Given the description of an element on the screen output the (x, y) to click on. 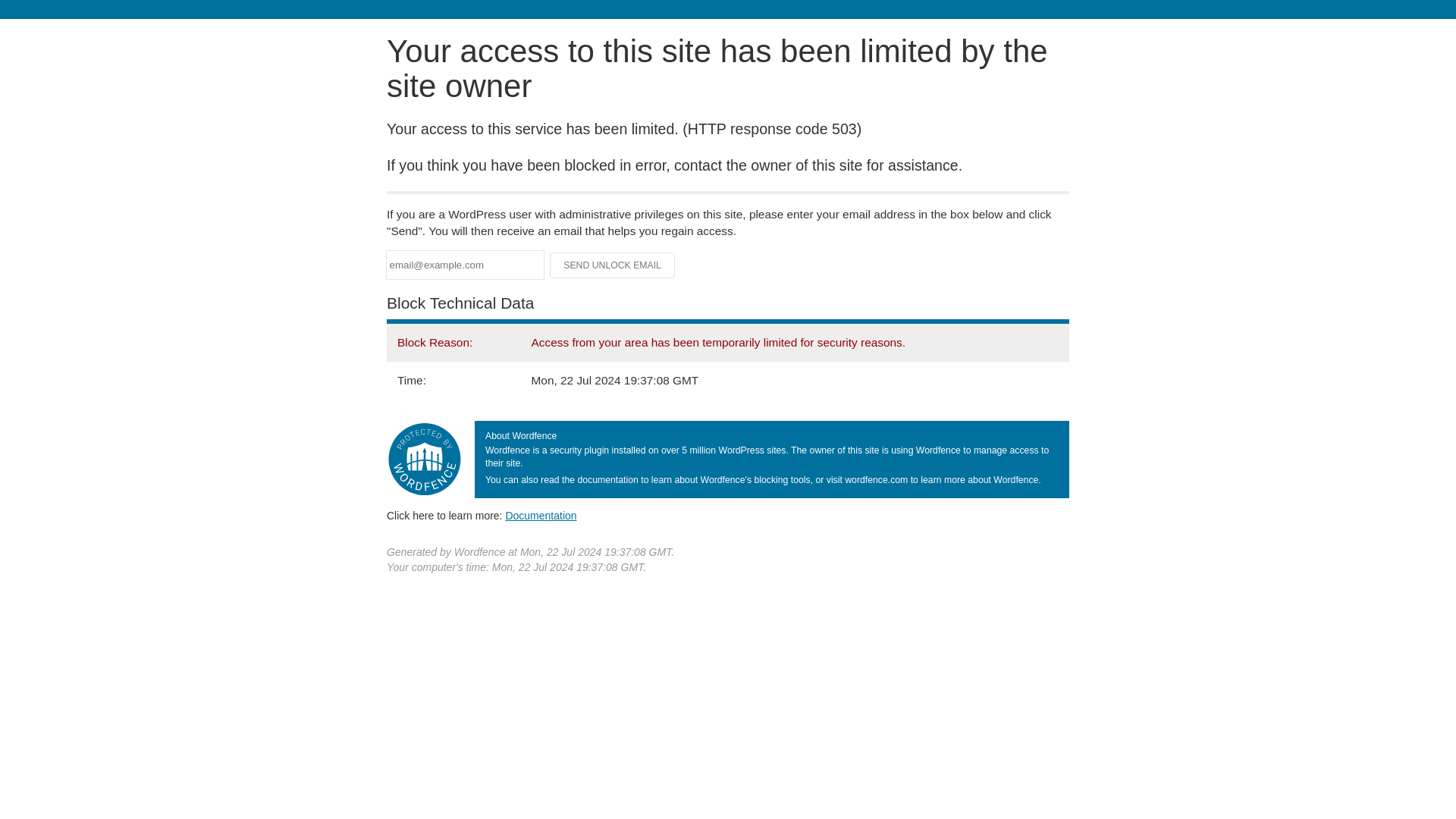
Documentation (540, 515)
Send Unlock Email (612, 265)
Send Unlock Email (612, 265)
